Given the description of an element on the screen output the (x, y) to click on. 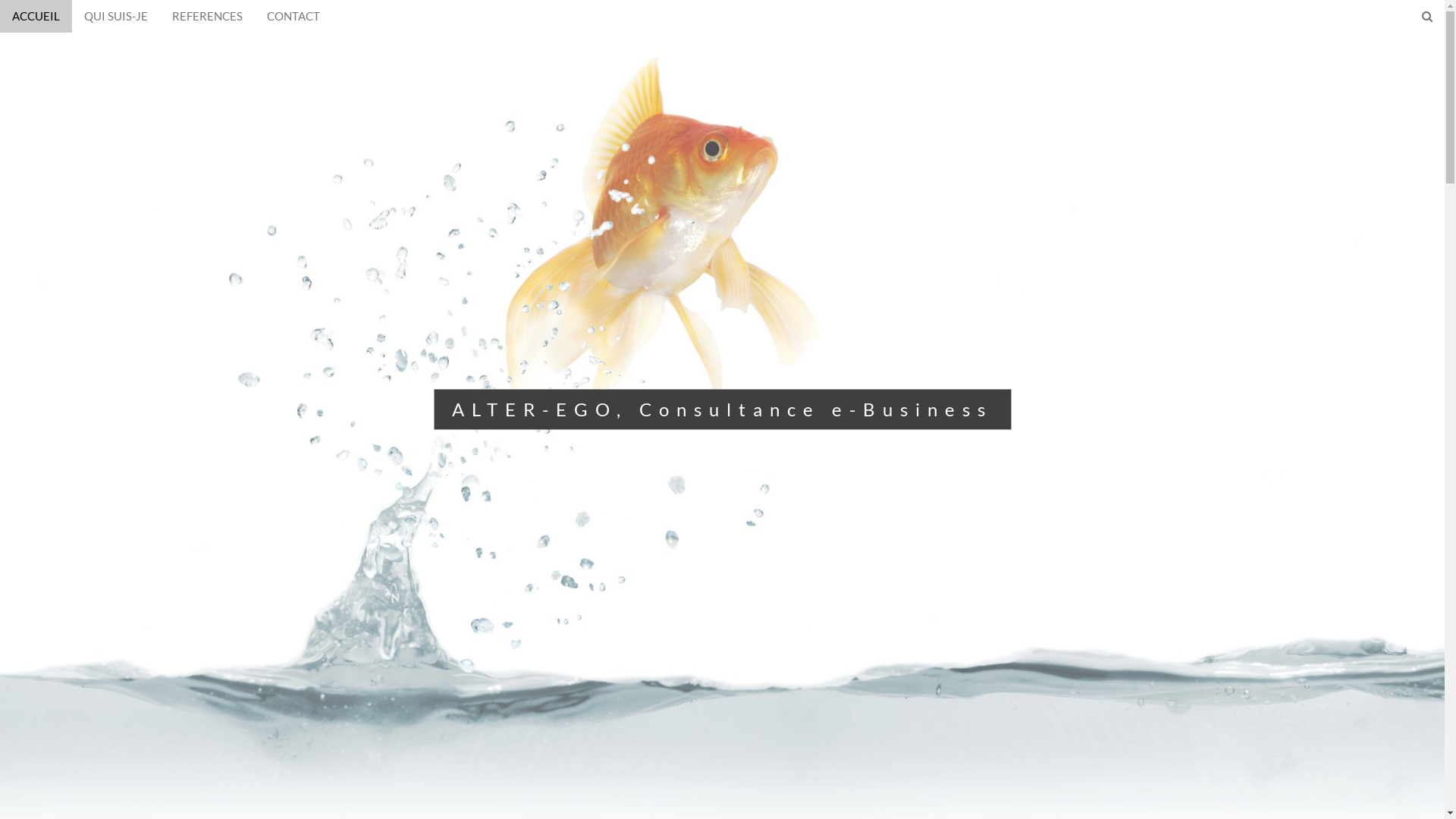
QUI SUIS-JE Element type: text (116, 16)
REFERENCES Element type: text (207, 16)
ACCUEIL Element type: text (36, 16)
CONTACT Element type: text (293, 16)
